Given the description of an element on the screen output the (x, y) to click on. 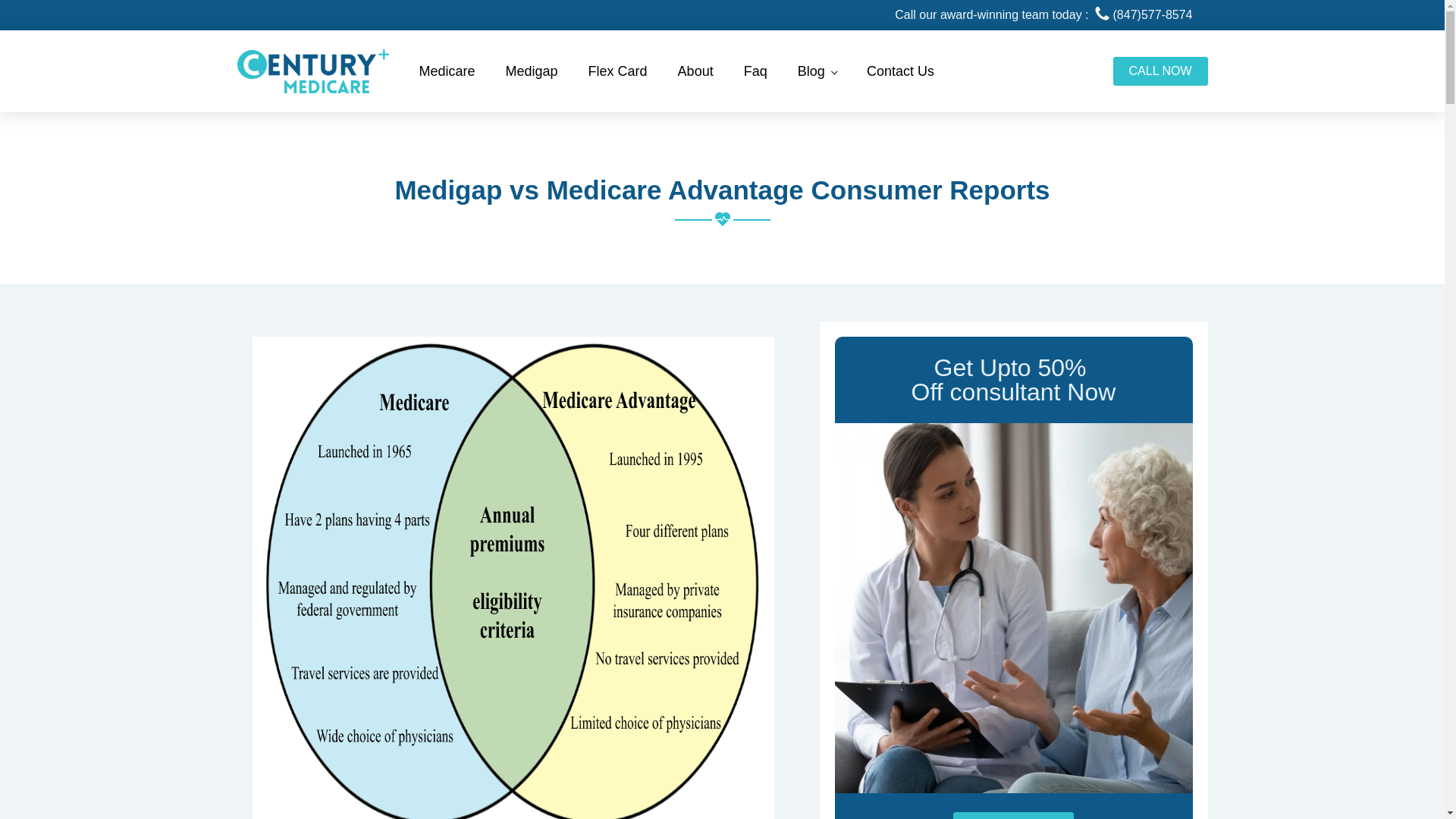
Contact Us (900, 71)
Medigap (531, 71)
About (695, 71)
Medicare (446, 71)
Faq (756, 71)
CALL NOW (1160, 70)
Check Avaliability (1013, 815)
Century Medicare (311, 71)
Blog (817, 71)
Flex Card (617, 71)
